Given the description of an element on the screen output the (x, y) to click on. 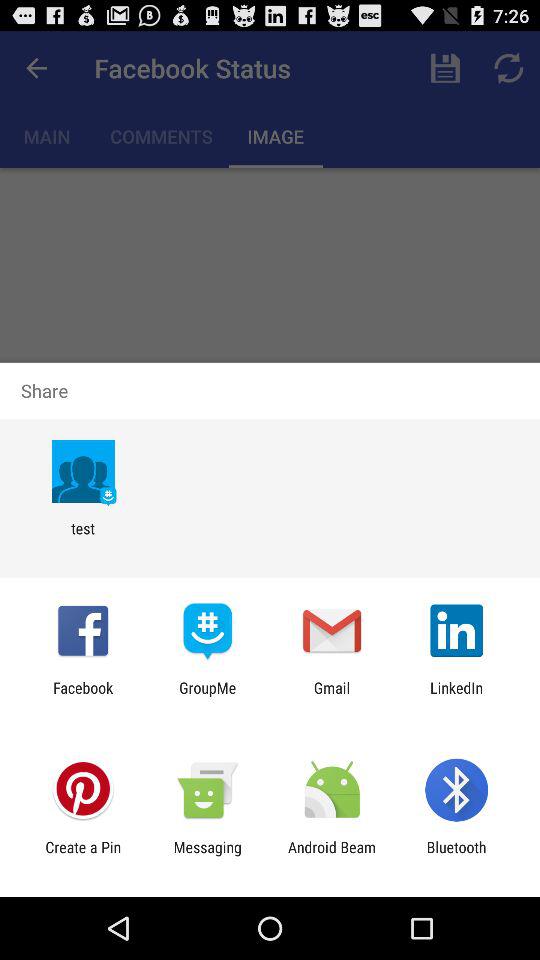
swipe until the bluetooth item (456, 856)
